Given the description of an element on the screen output the (x, y) to click on. 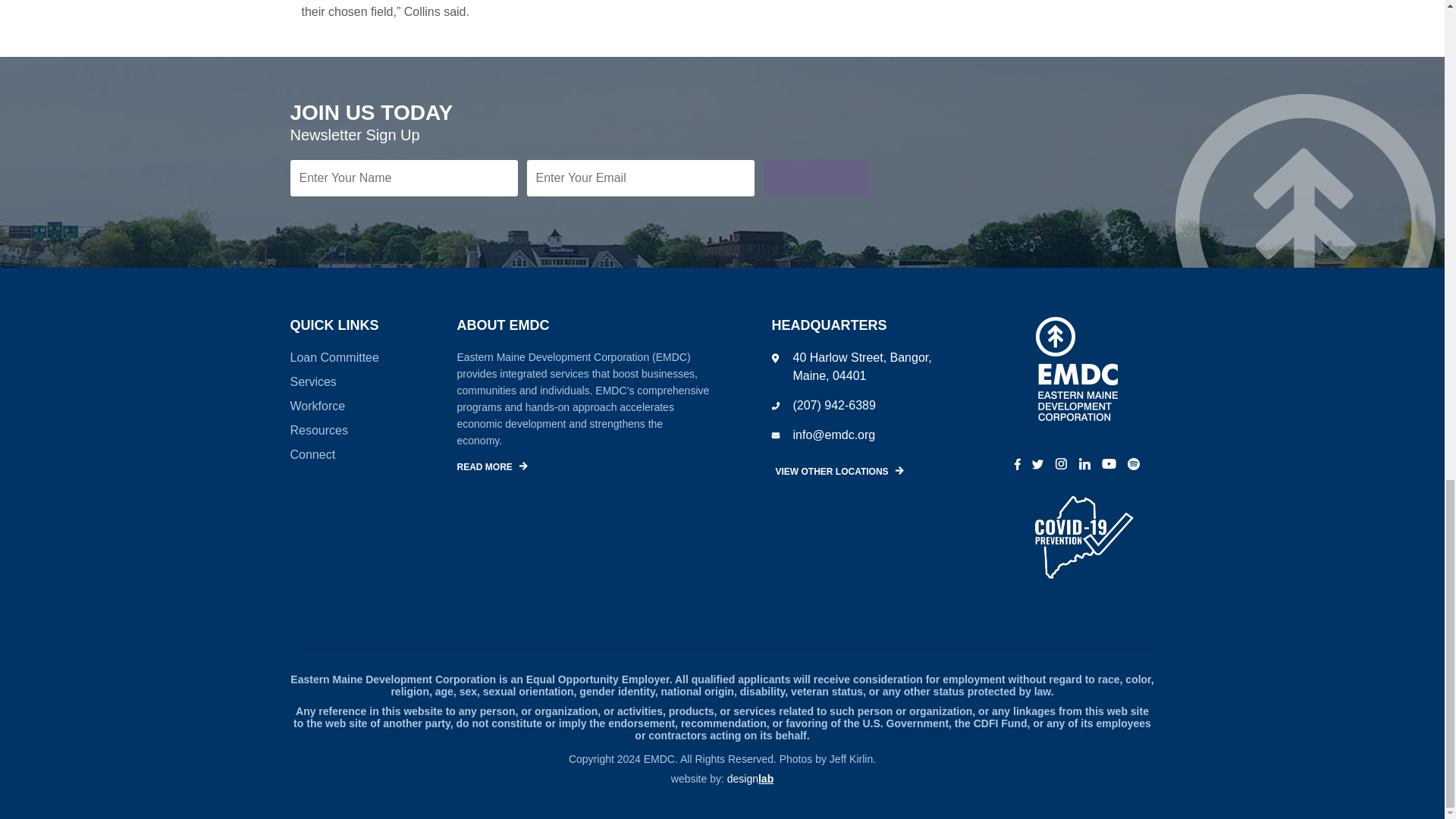
Submit (815, 177)
Submit (815, 177)
